Given the description of an element on the screen output the (x, y) to click on. 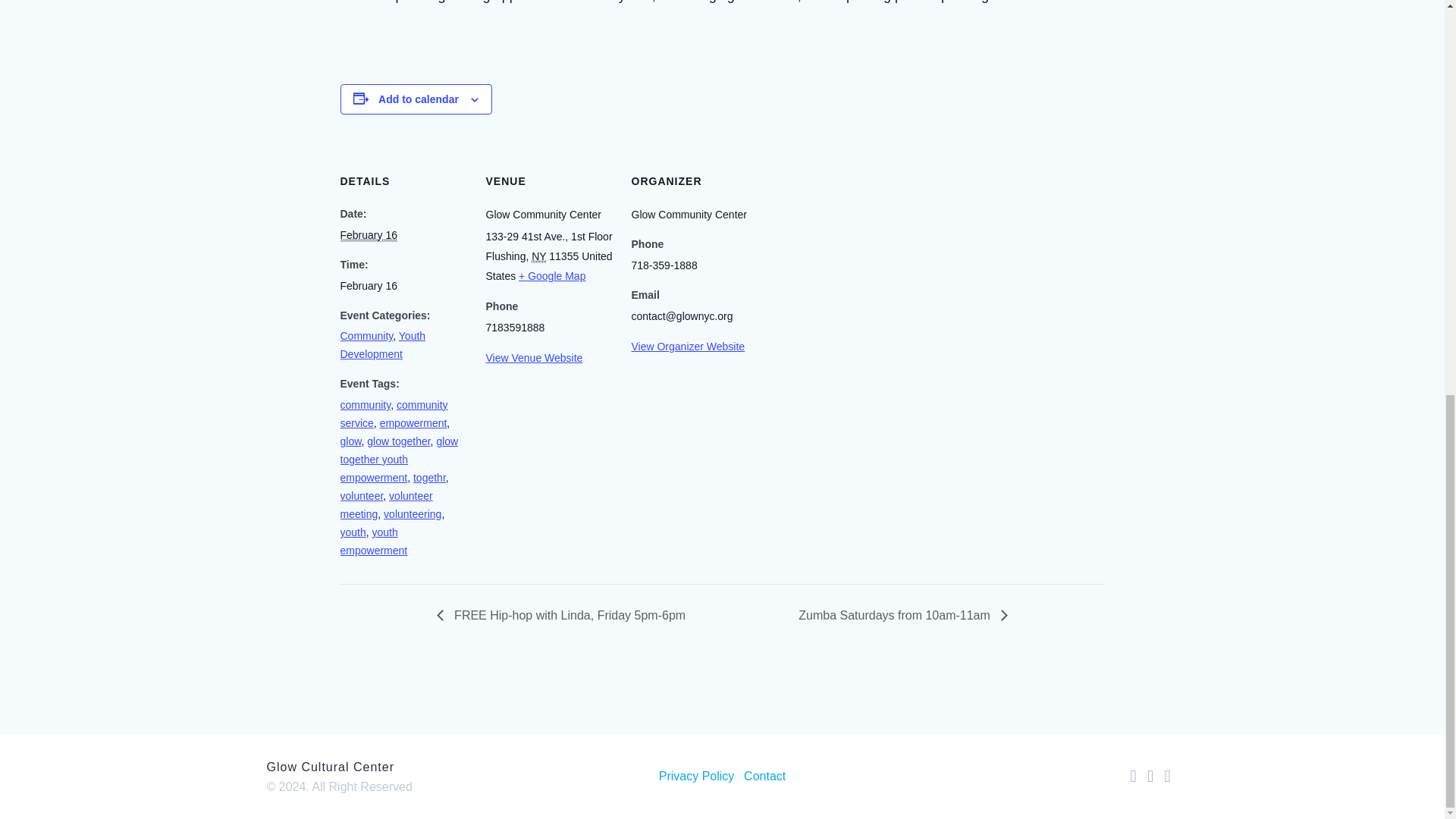
glow together (397, 440)
glow together youth empowerment (398, 459)
community service (392, 413)
2024-02-16 (367, 235)
Youth Development (382, 345)
2024-02-16 (403, 285)
volunteer meeting (385, 504)
Community (366, 336)
glow (350, 440)
volunteering (412, 513)
